Given the description of an element on the screen output the (x, y) to click on. 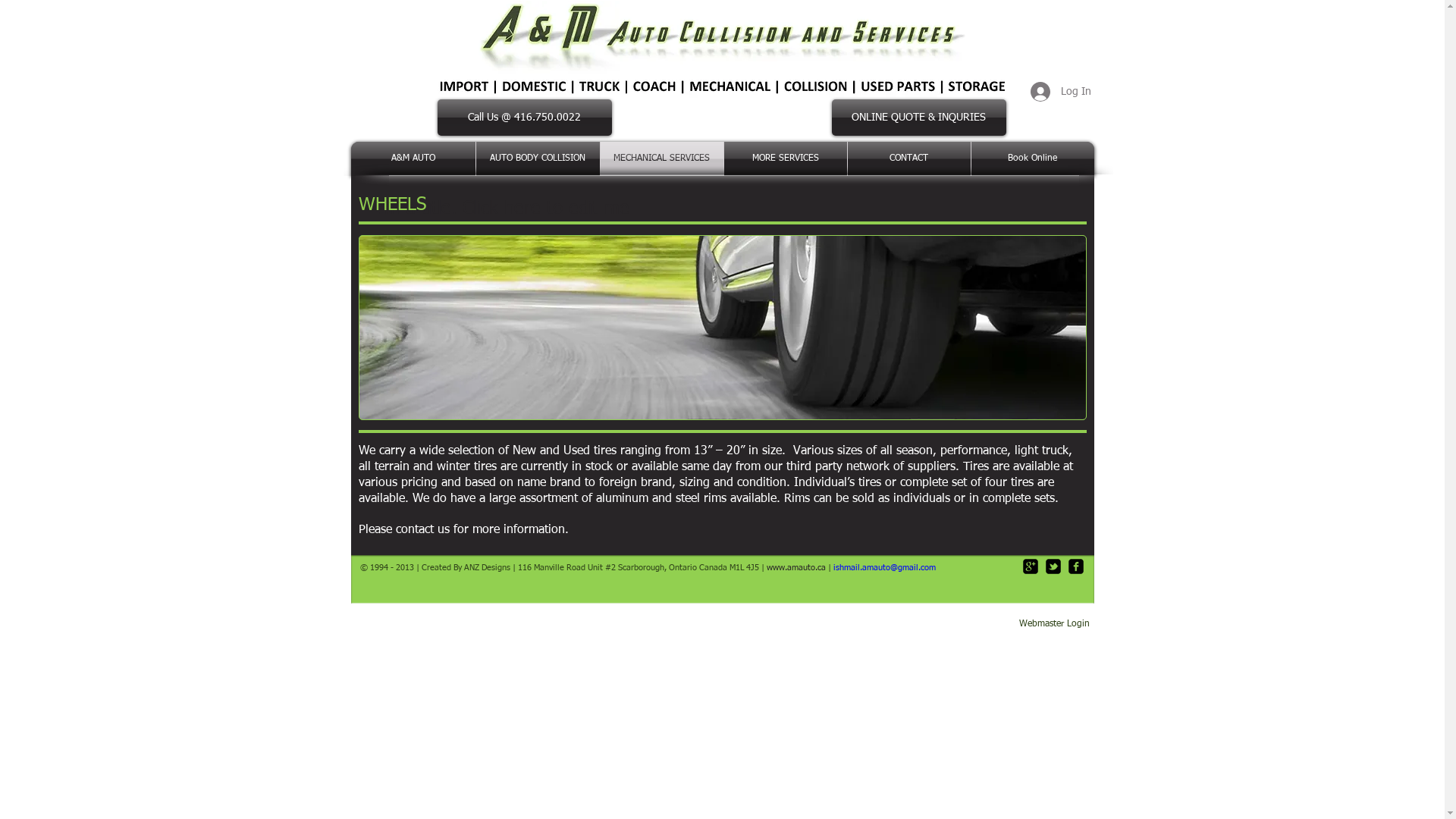
Log In Element type: text (1060, 91)
MECHANICAL SERVICES Element type: text (661, 158)
ONLINE QUOTE & INQURIES Element type: text (918, 117)
MORE SERVICES Element type: text (784, 158)
A&M AUTO Element type: text (412, 158)
www.amauto.ca Element type: text (795, 567)
CONTACT Element type: text (908, 158)
ishmail.amauto@gmail.com Element type: text (883, 567)
AUTO BODY COLLISION Element type: text (537, 158)
Webmaster Login Element type: text (1054, 623)
Call Us @ 416.750.0022 Element type: text (523, 117)
Book Online Element type: text (1031, 158)
